Given the description of an element on the screen output the (x, y) to click on. 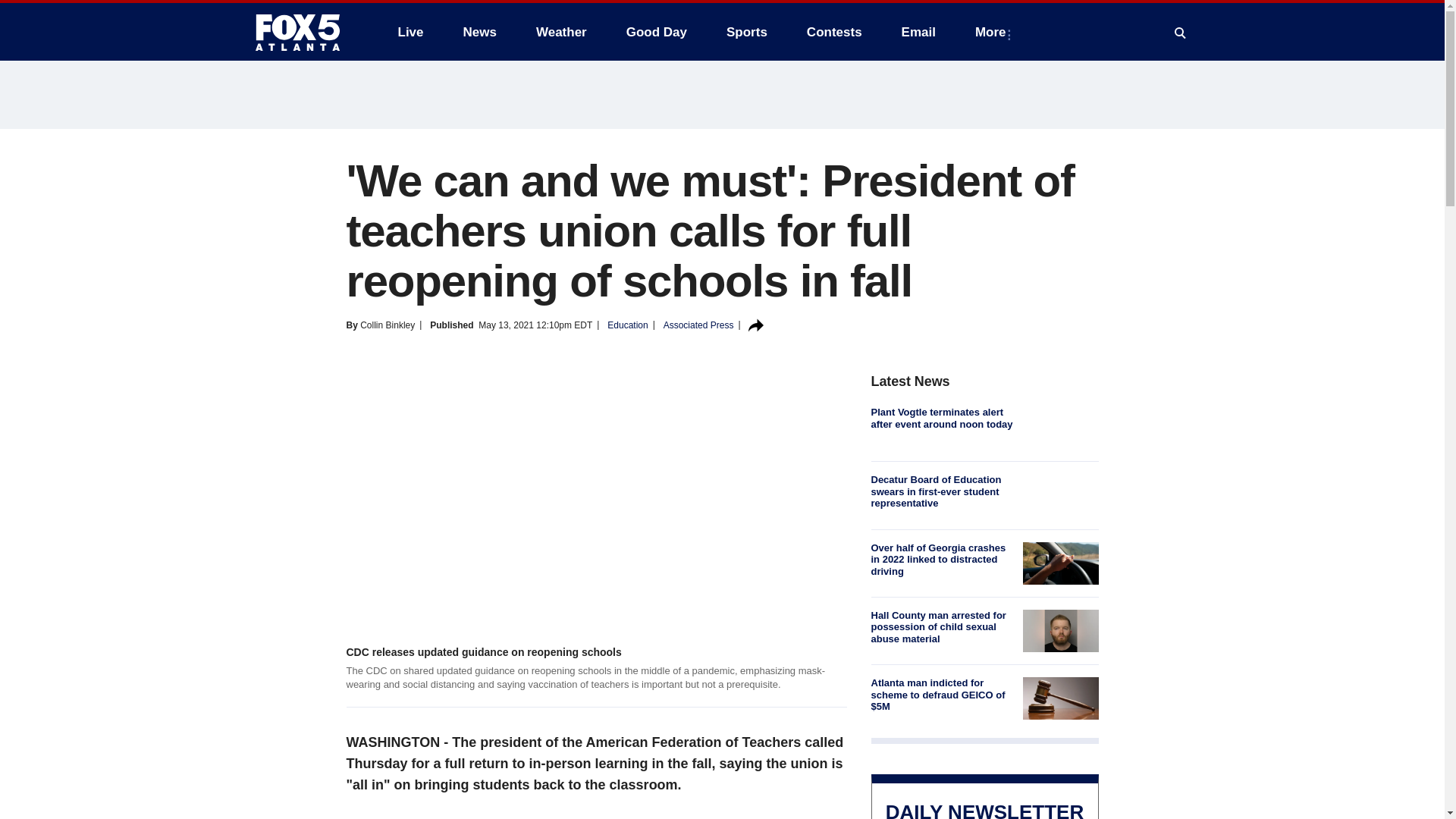
News (479, 32)
Email (918, 32)
Contests (834, 32)
Live (410, 32)
Sports (746, 32)
Good Day (656, 32)
More (993, 32)
Weather (561, 32)
